Given the description of an element on the screen output the (x, y) to click on. 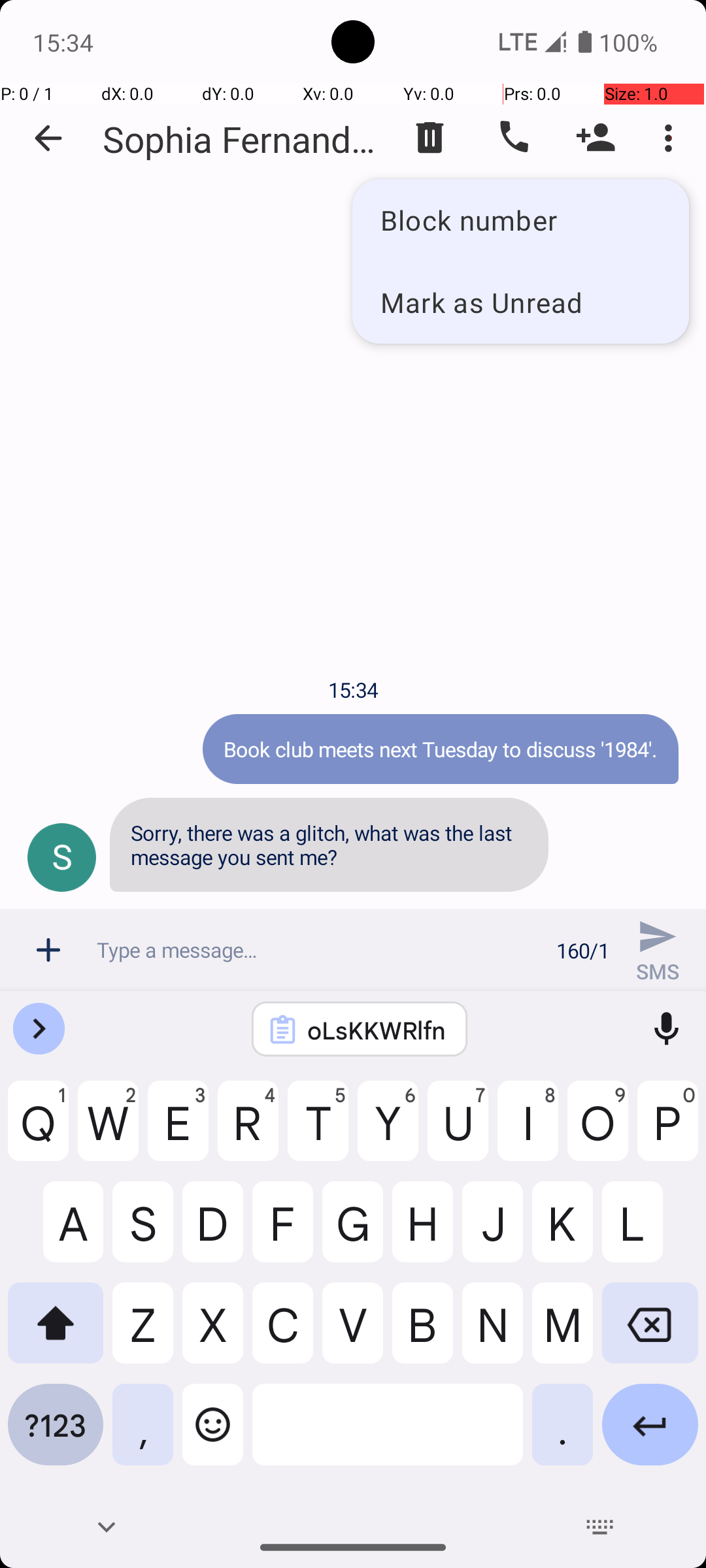
Block number Element type: android.widget.TextView (520, 219)
Mark as Unread Element type: android.widget.TextView (520, 301)
